Given the description of an element on the screen output the (x, y) to click on. 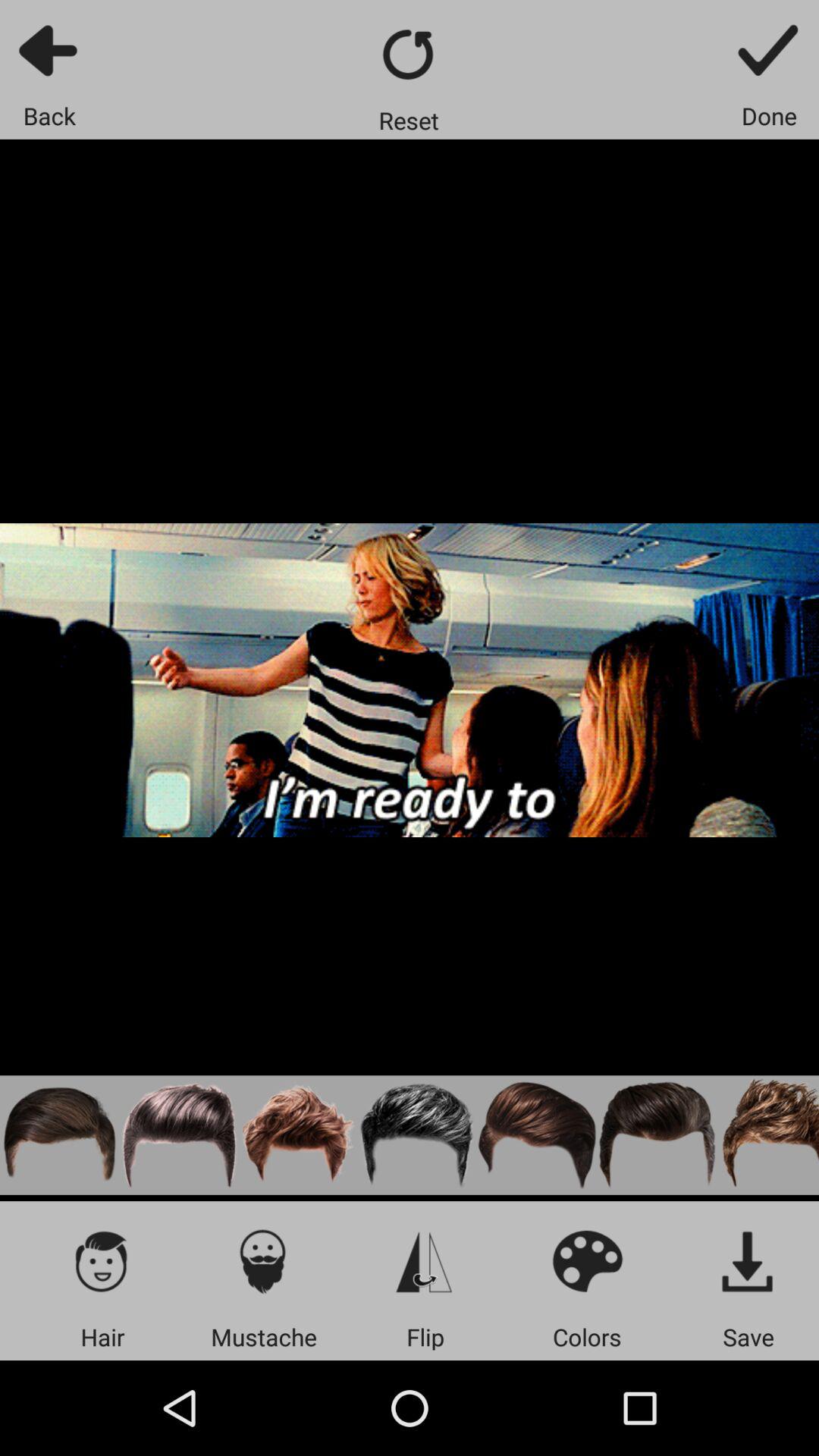
mustache icon (263, 1260)
